Given the description of an element on the screen output the (x, y) to click on. 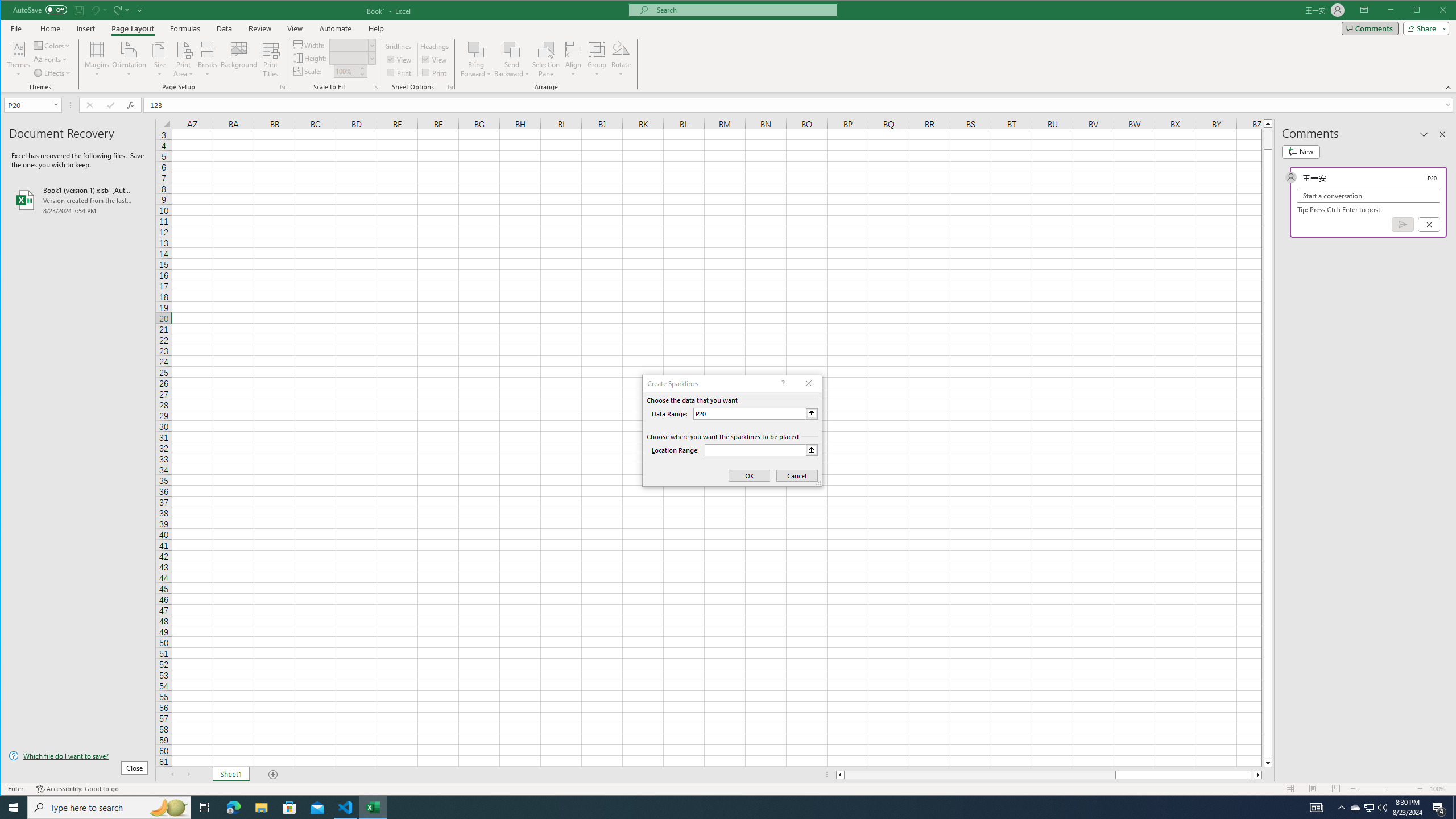
Cancel (1428, 224)
New comment (1300, 151)
Bring Forward (476, 59)
Orientation (129, 59)
Height (352, 57)
Group (596, 59)
